Given the description of an element on the screen output the (x, y) to click on. 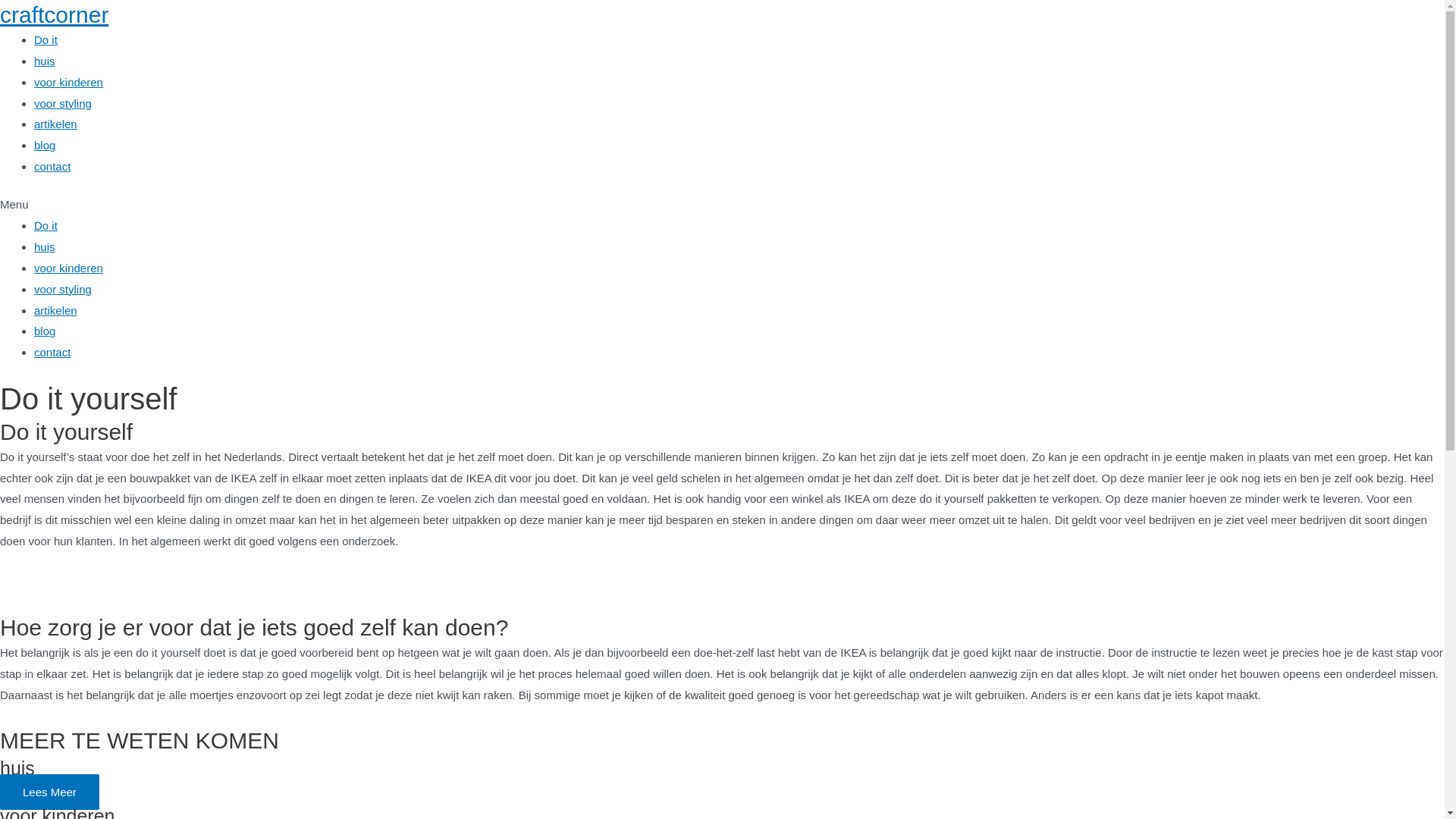
voor kinderen Element type: text (68, 267)
huis Element type: text (44, 60)
blog Element type: text (44, 330)
Do it Element type: text (45, 39)
voor styling Element type: text (62, 288)
artikelen Element type: text (55, 310)
voor kinderen Element type: text (68, 81)
Lees Meer Element type: text (49, 791)
Do it Element type: text (45, 225)
contact Element type: text (52, 351)
craftcorner Element type: text (54, 14)
blog Element type: text (44, 144)
voor styling Element type: text (62, 103)
contact Element type: text (52, 166)
artikelen Element type: text (55, 123)
huis Element type: text (44, 246)
